Given the description of an element on the screen output the (x, y) to click on. 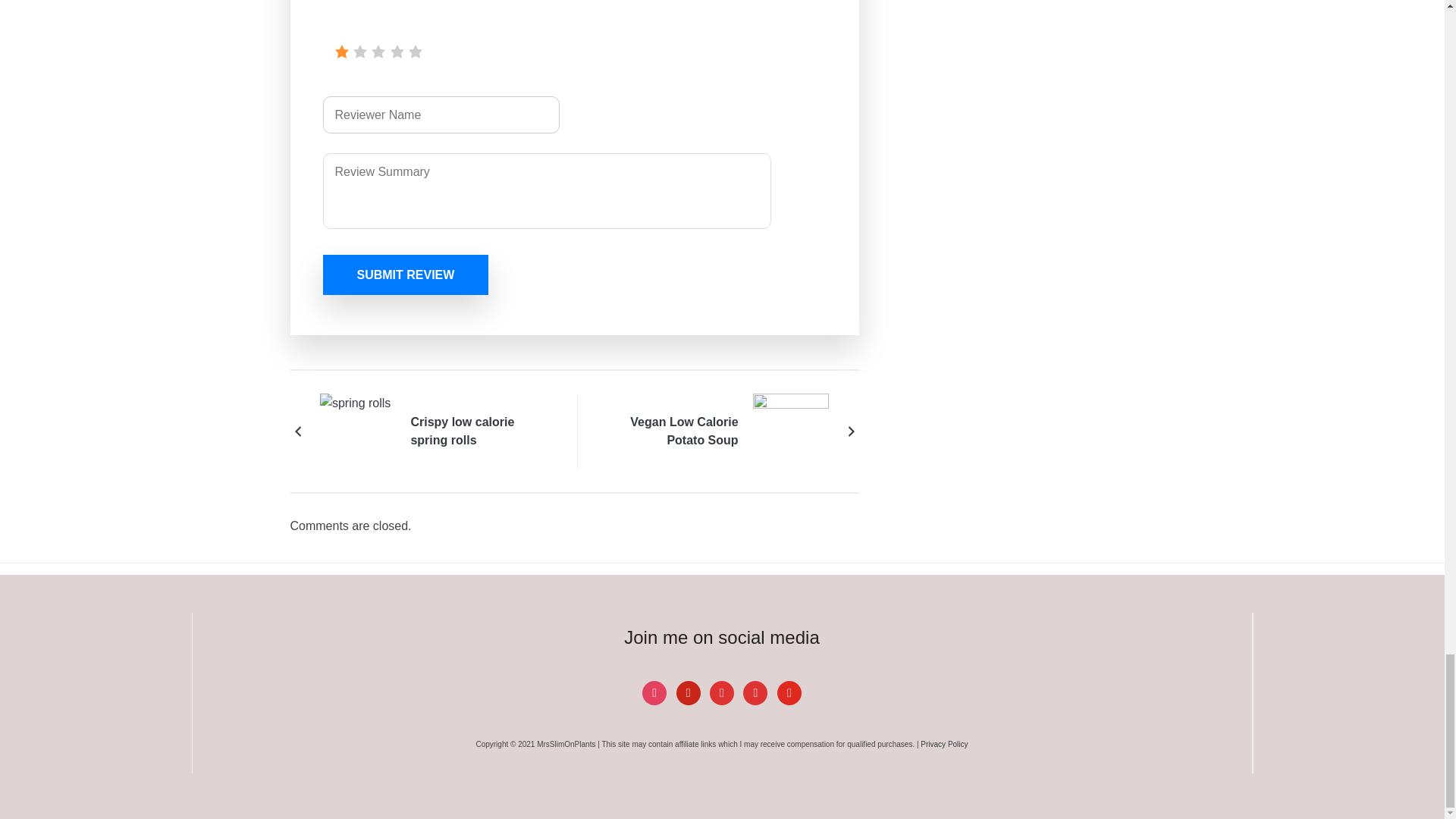
Crispy low calorie spring rolls (357, 430)
Vegan Low Calorie Potato Soup (790, 430)
Instagram (654, 691)
Default Label (688, 691)
Default Label (721, 691)
Vegan Low Calorie Potato Soup (667, 431)
Crispy low calorie spring rolls (480, 431)
